Given the description of an element on the screen output the (x, y) to click on. 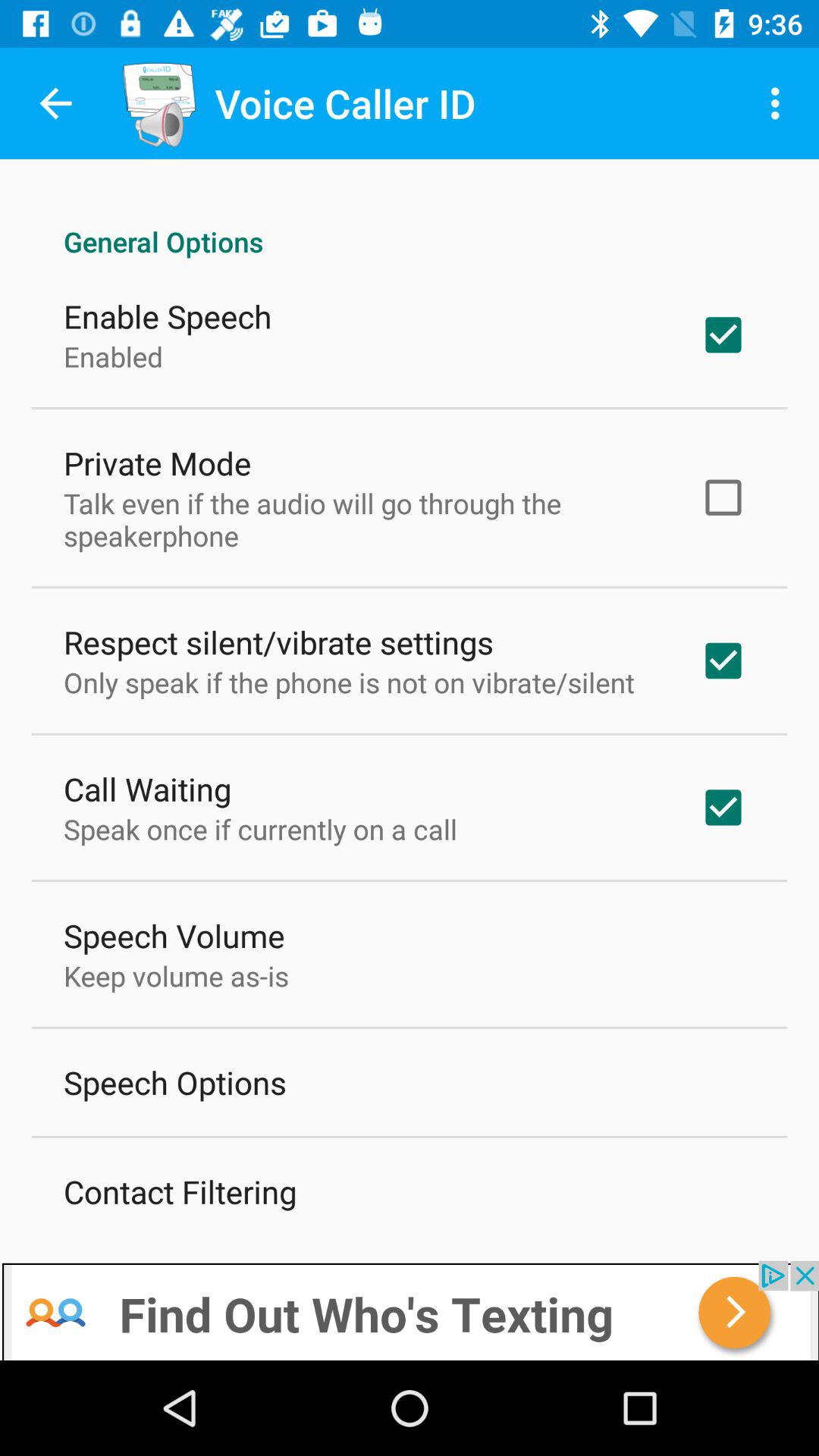
advertisement page (409, 1310)
